Given the description of an element on the screen output the (x, y) to click on. 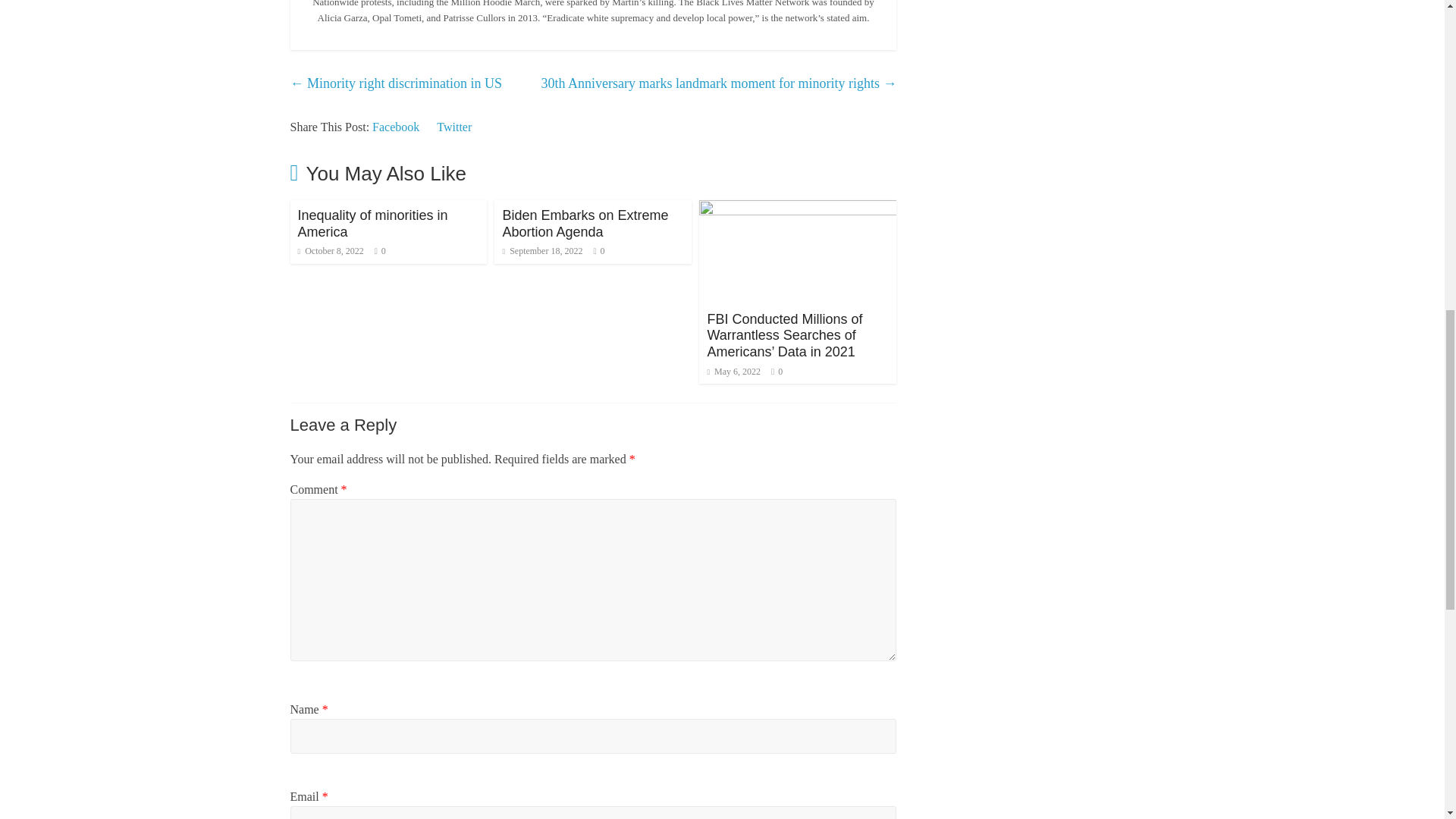
Twitter (453, 126)
Inequality of minorities in America  (371, 223)
May 6, 2022 (733, 371)
Facebook (395, 126)
2:44 am (329, 250)
Biden Embarks on Extreme Abortion Agenda (585, 223)
9:22 am (542, 250)
Biden Embarks on Extreme Abortion Agenda (585, 223)
September 18, 2022 (542, 250)
